Given the description of an element on the screen output the (x, y) to click on. 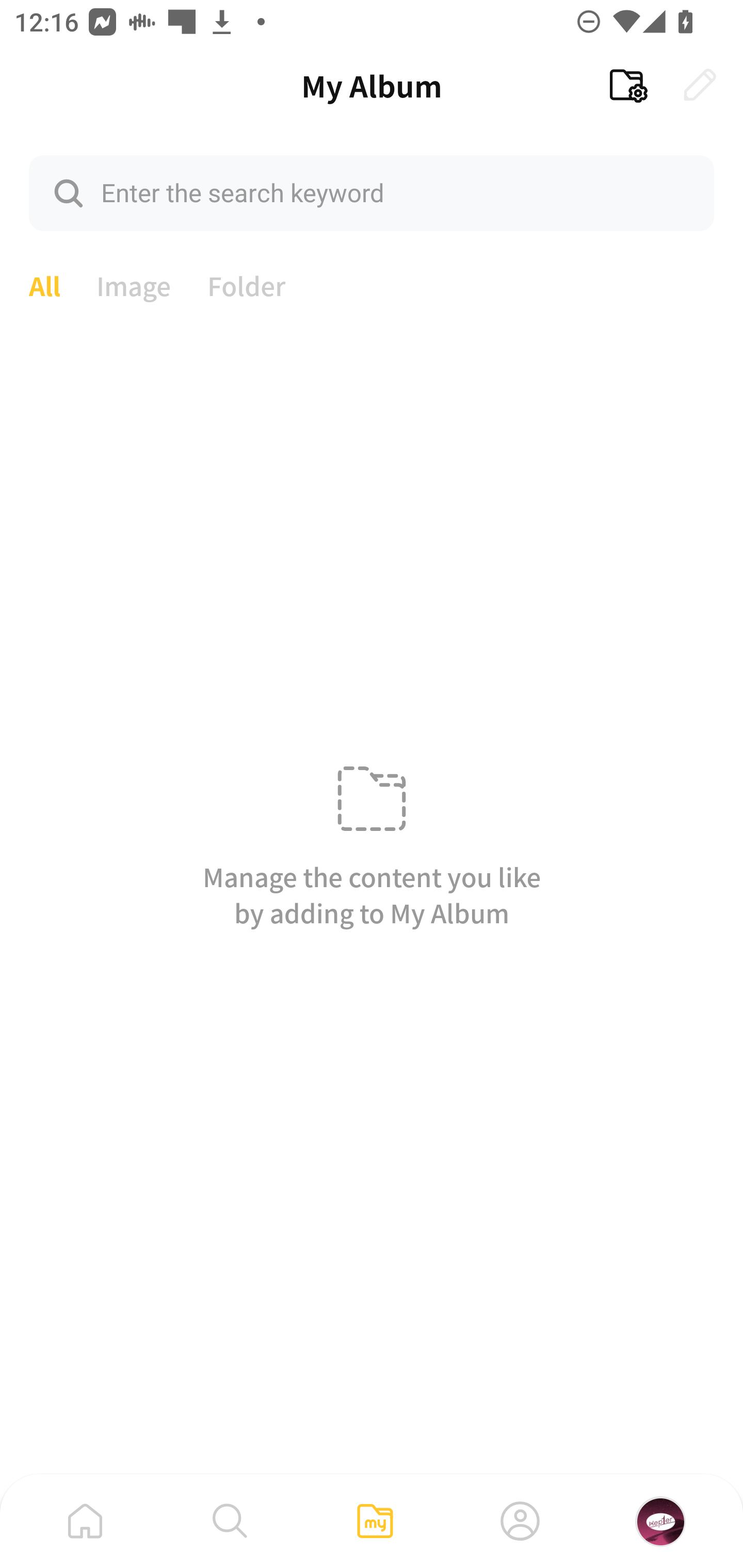
Enter the search keyword (371, 192)
All (44, 284)
Image (133, 284)
Folder (246, 284)
